Given the description of an element on the screen output the (x, y) to click on. 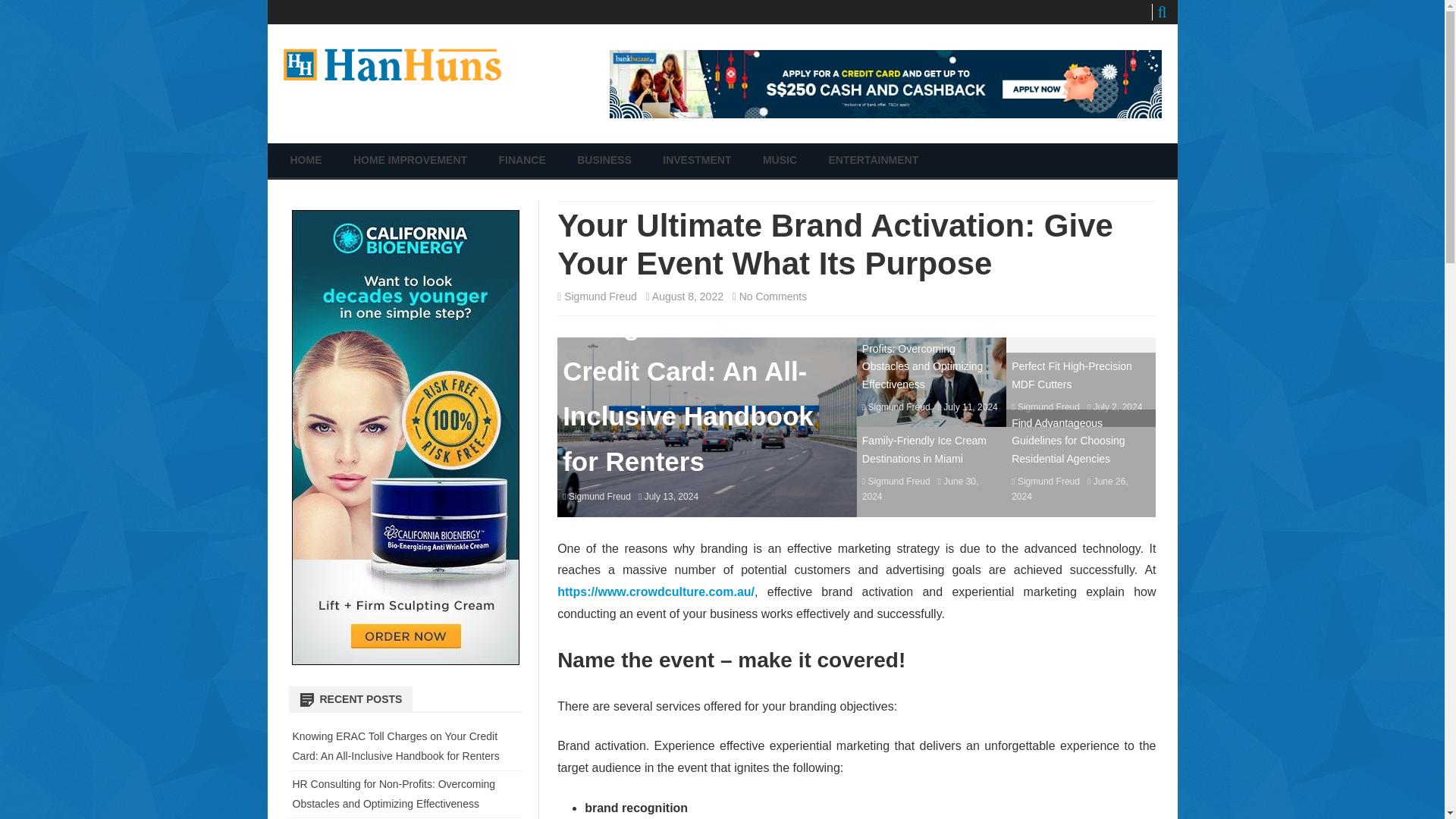
Sigmund Freud (599, 496)
HOME (306, 160)
Sigmund Freud (1048, 407)
INVESTMENT (696, 160)
Finance and business are directly proportional!!! (453, 99)
BUSINESS (603, 160)
Sigmund Freud (1048, 480)
ENTERTAINMENT (873, 160)
Sigmund Freud (898, 480)
FINANCE (522, 160)
